Given the description of an element on the screen output the (x, y) to click on. 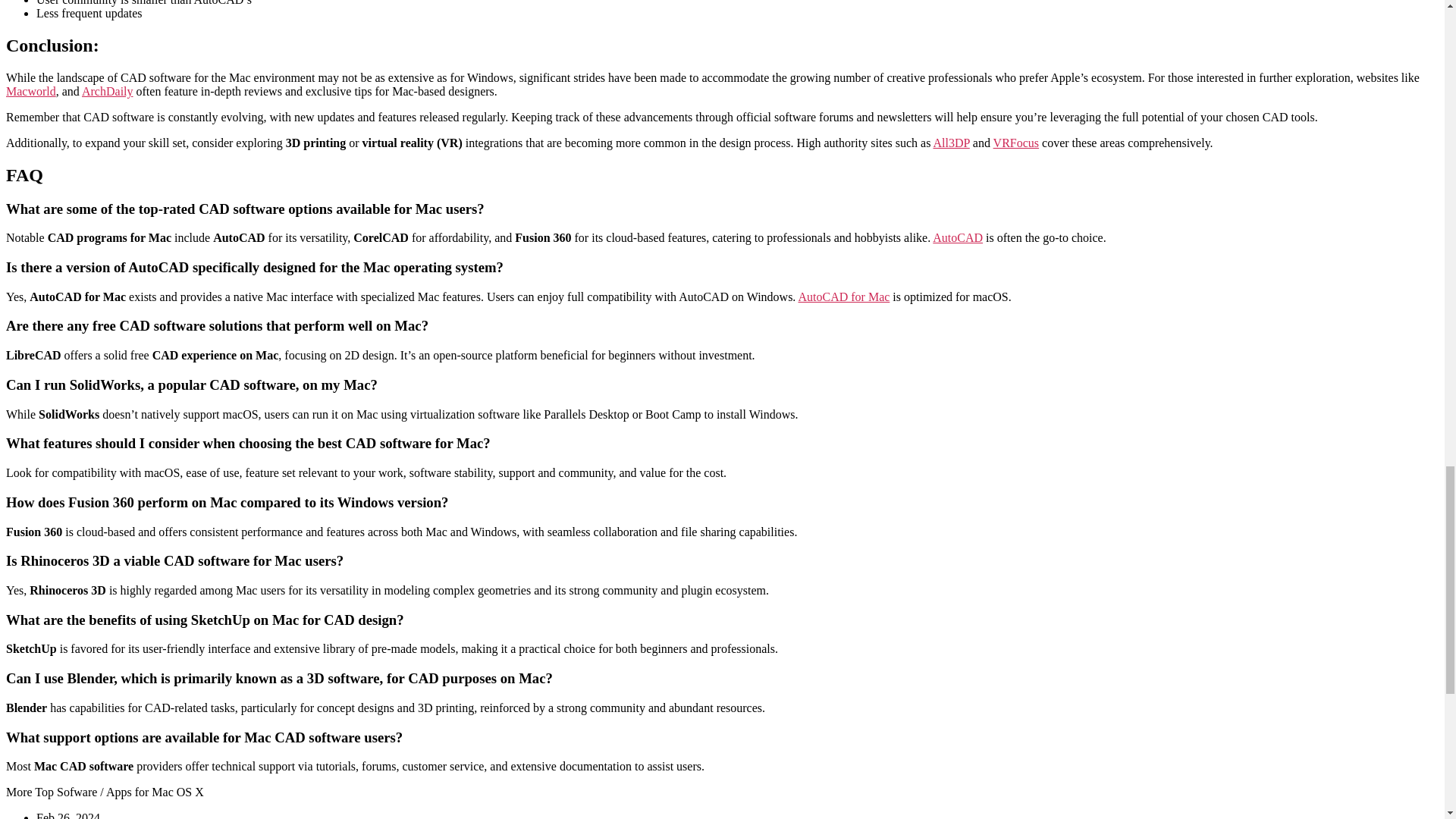
AutoCAD (957, 237)
AutoCAD for Mac (843, 296)
All3DP (951, 142)
Macworld (30, 91)
ArchDaily (107, 91)
VRFocus (1015, 142)
